Given the description of an element on the screen output the (x, y) to click on. 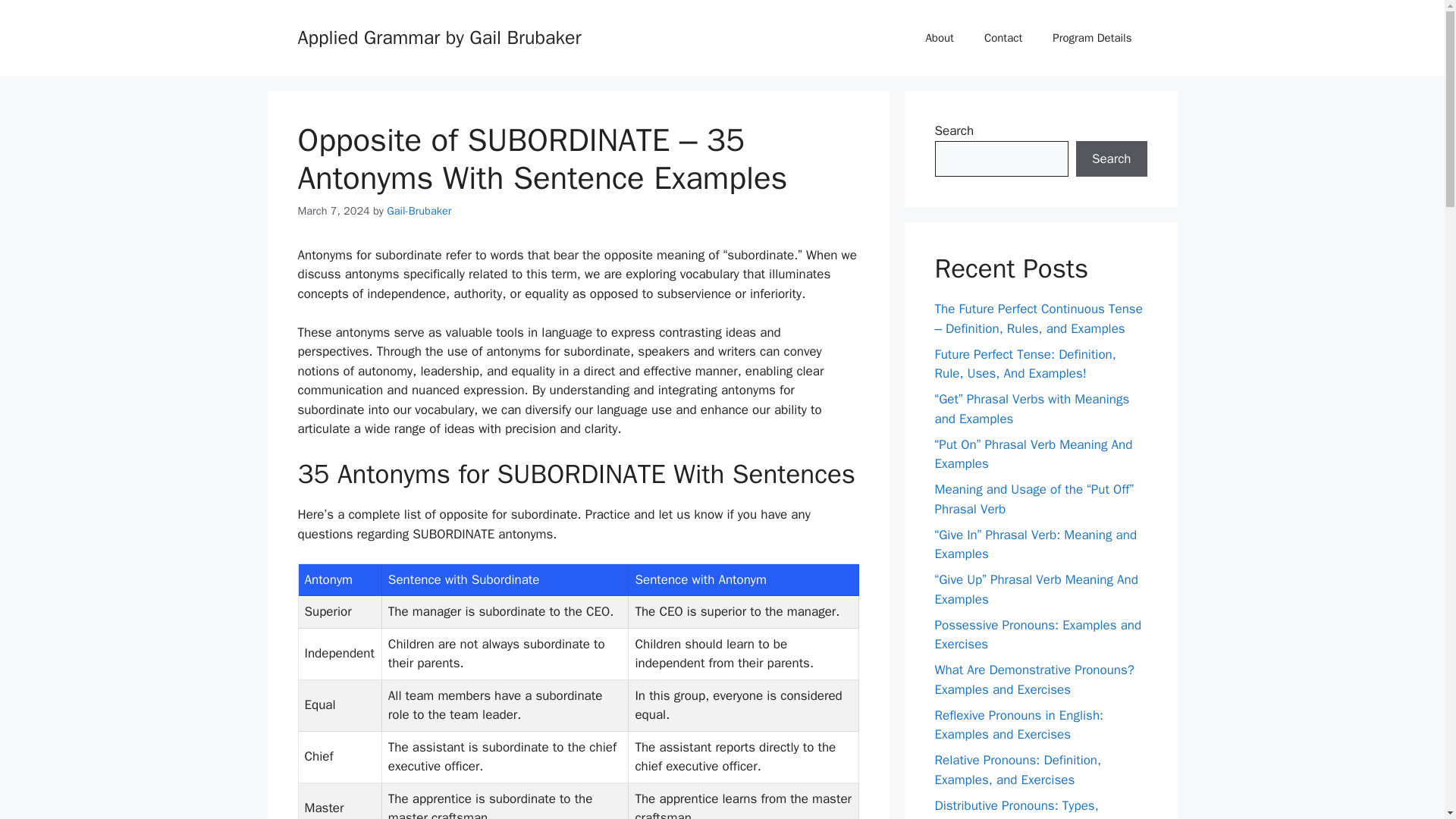
About (939, 37)
Future Perfect Tense: Definition, Rule, Uses, And Examples! (1024, 363)
Relative Pronouns: Definition, Examples, and Exercises (1017, 769)
Reflexive Pronouns in English: Examples and Exercises (1018, 724)
Applied Grammar by Gail Brubaker (438, 37)
Program Details (1091, 37)
Search (1111, 158)
Contact (1002, 37)
Distributive Pronouns: Types, Examples, and Usage (1015, 808)
Possessive Pronouns: Examples and Exercises (1037, 634)
What Are Demonstrative Pronouns? Examples and Exercises (1034, 679)
Gail-Brubaker (419, 210)
View all posts by Gail-Brubaker (419, 210)
